Given the description of an element on the screen output the (x, y) to click on. 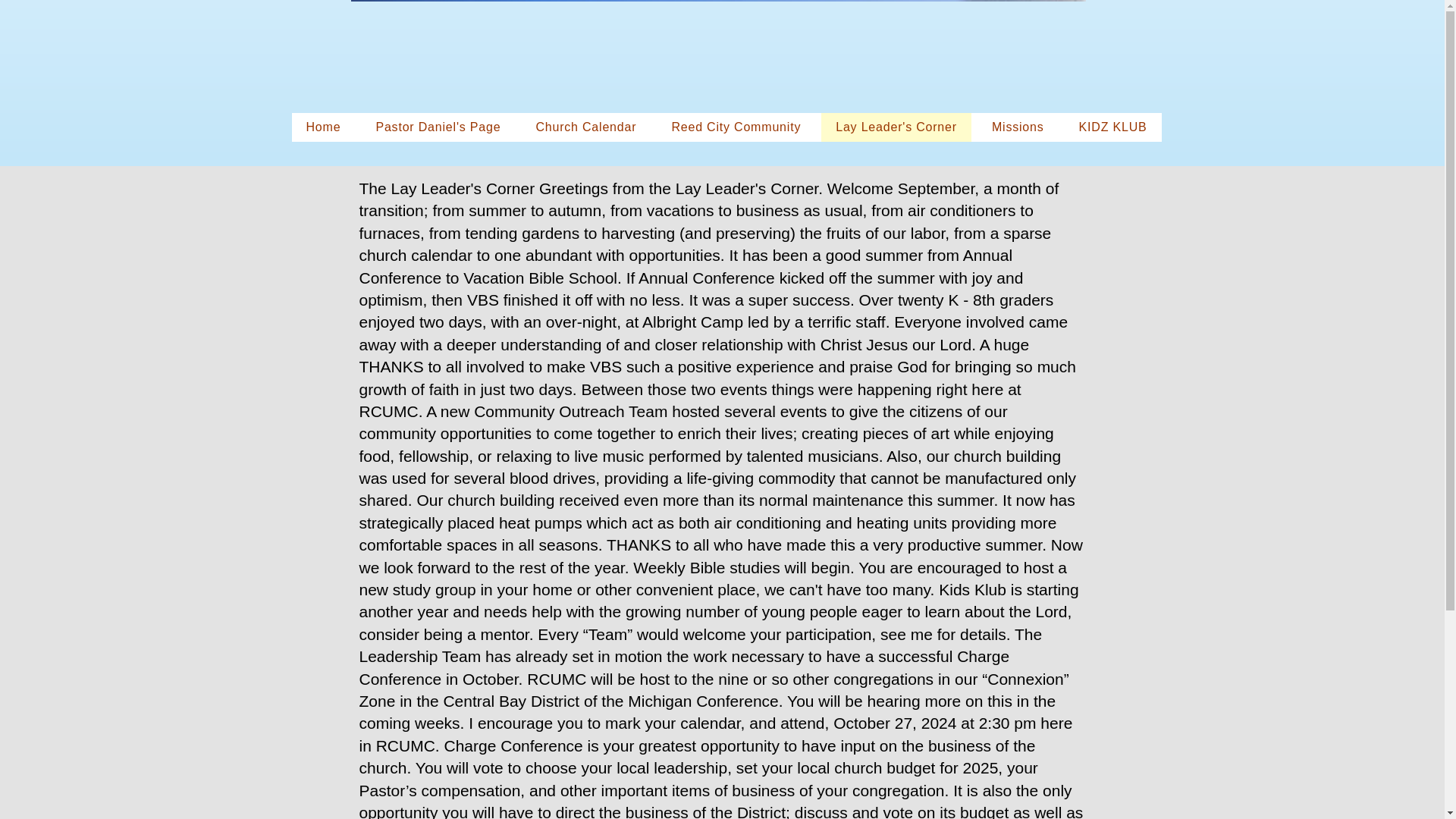
Reed City Community (735, 127)
KIDZ KLUB (1112, 127)
Missions (1017, 127)
Home (323, 127)
Lay Leader's Corner (896, 127)
Pastor Daniel's Page (438, 127)
Church Calendar (585, 127)
